Given the description of an element on the screen output the (x, y) to click on. 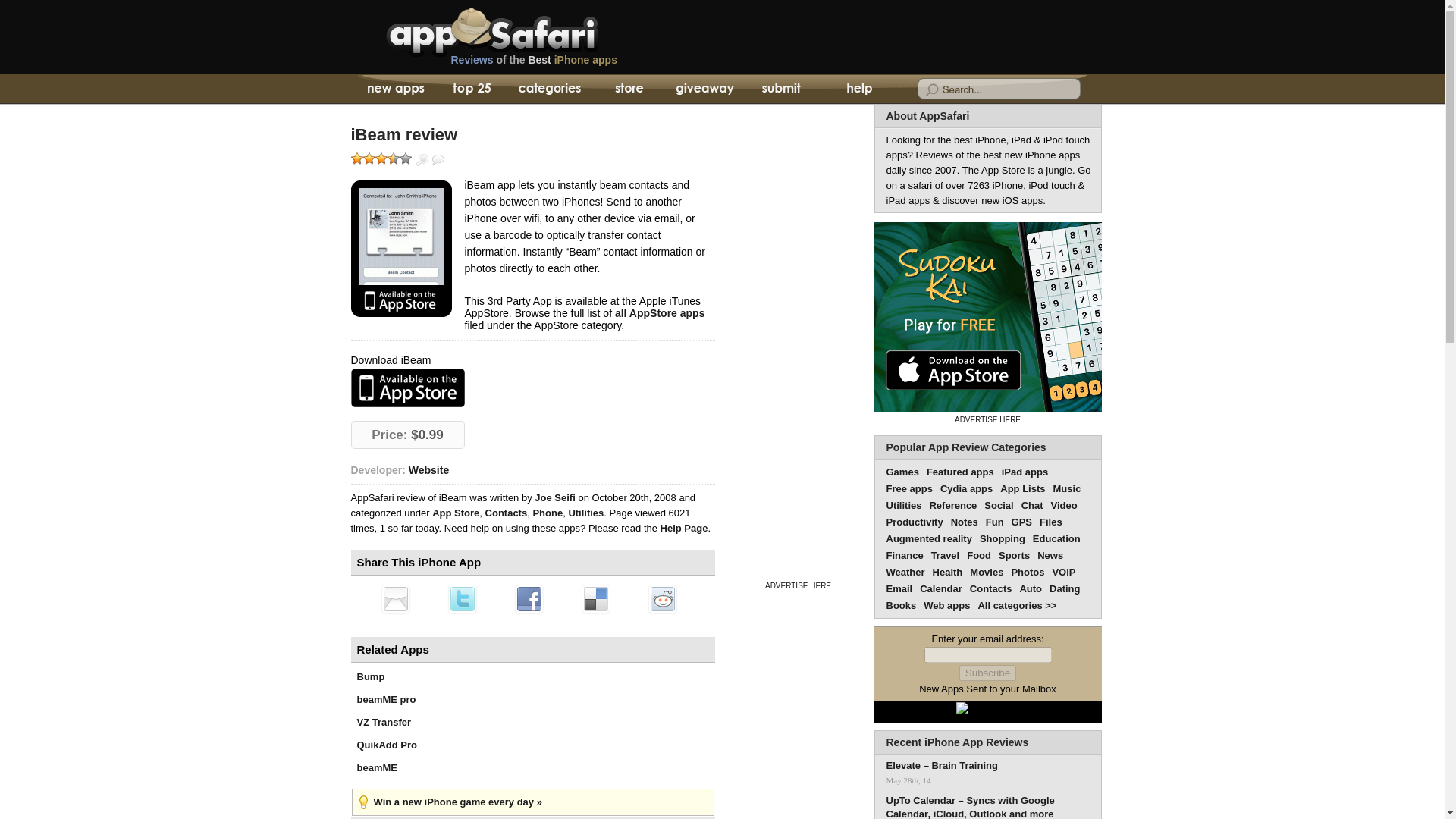
App Giveaway (703, 89)
Average (380, 158)
Perfect (404, 158)
iBeam (403, 134)
Zoom App Screenshot (421, 159)
Help (858, 89)
Great (392, 158)
VZ Transfer (383, 722)
